Given the description of an element on the screen output the (x, y) to click on. 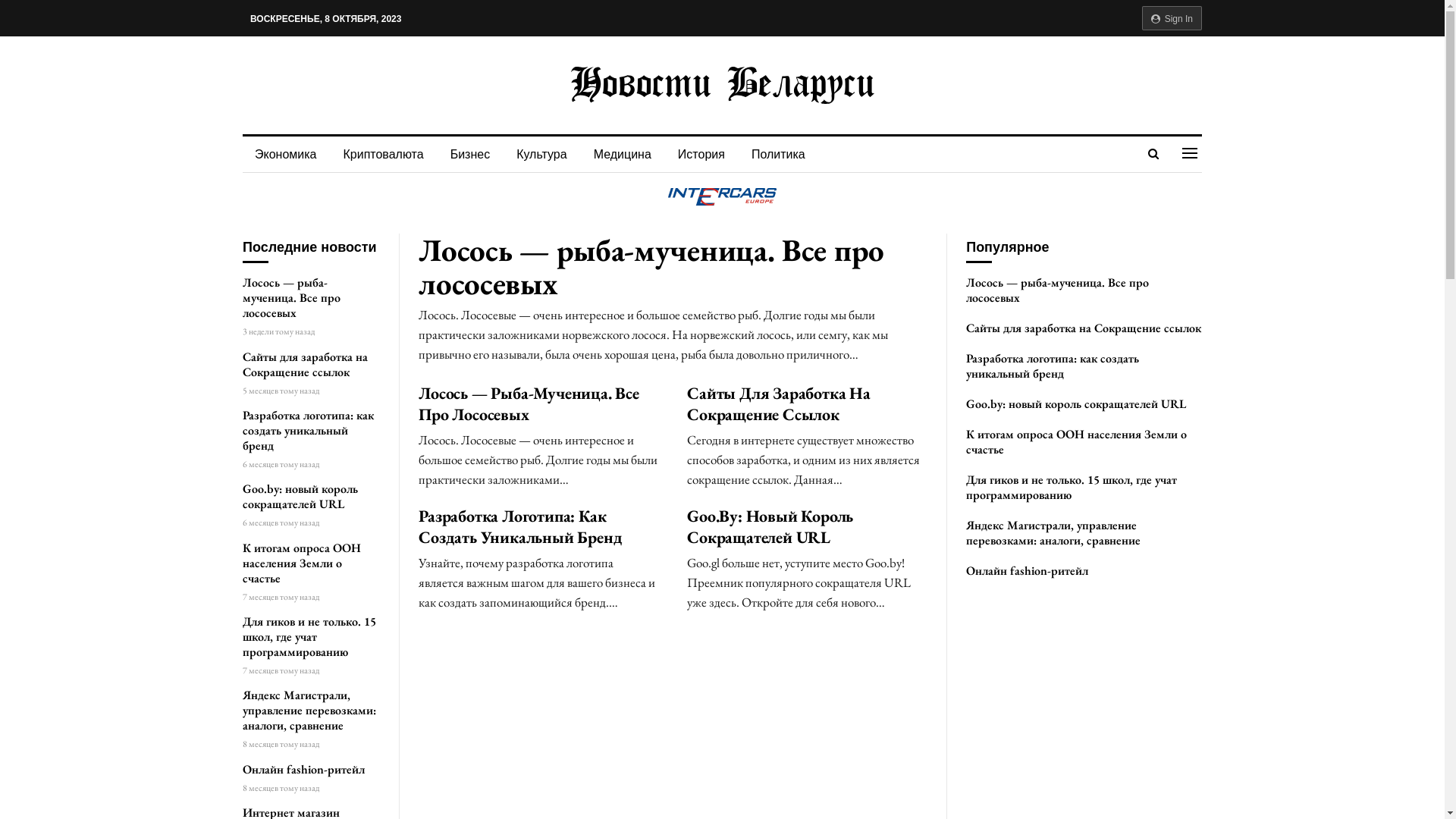
Sign In Element type: text (1171, 18)
